Given the description of an element on the screen output the (x, y) to click on. 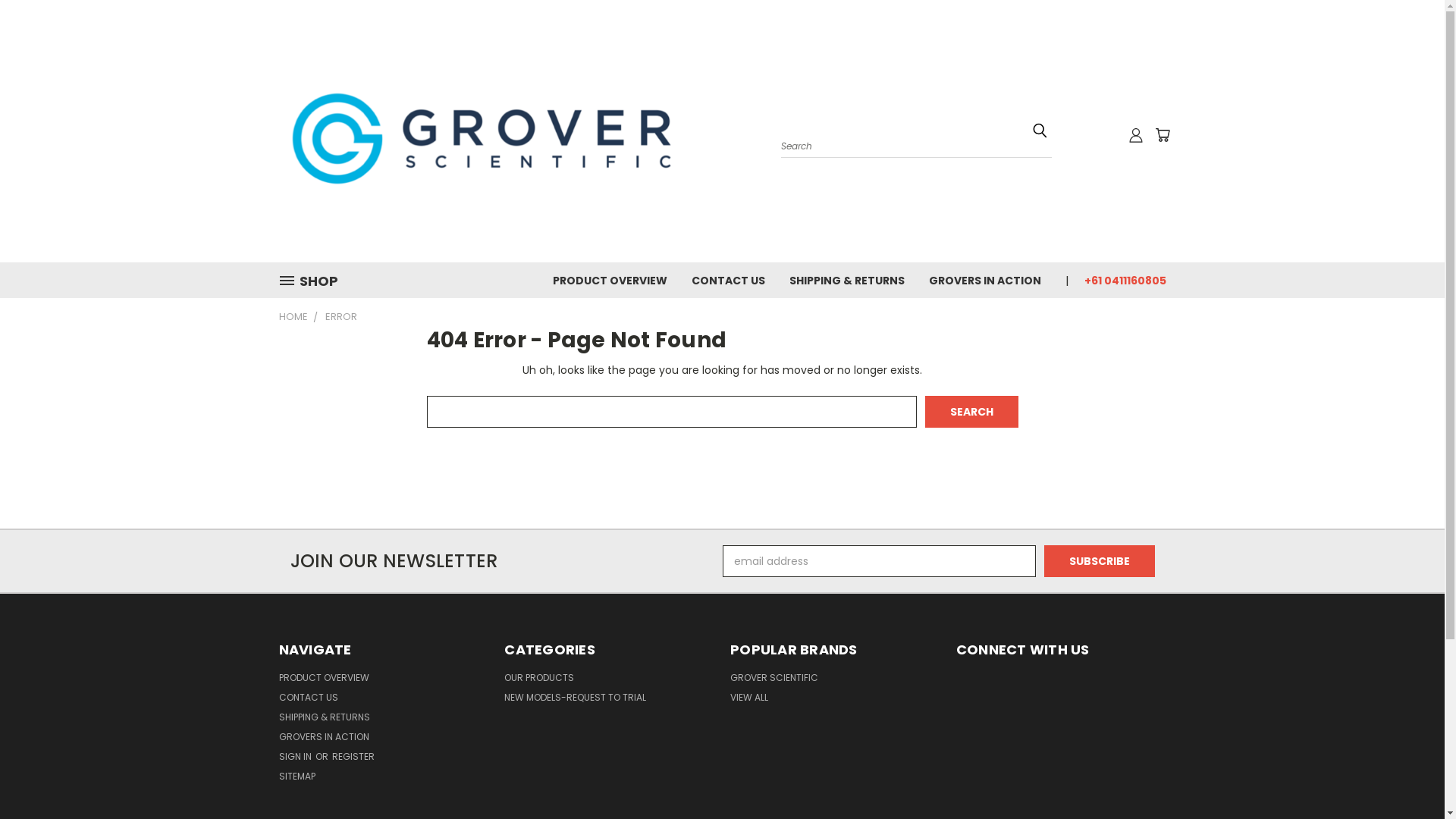
User Toolbox Element type: hover (1135, 134)
OUR PRODUCTS Element type: text (539, 680)
NEW MODELS-REQUEST TO TRIAL Element type: text (575, 699)
PRODUCT OVERVIEW Element type: text (608, 279)
+61 0411160805 Element type: text (1119, 279)
SHOP Element type: text (314, 280)
GROVER SCIENTIFIC Element type: text (774, 680)
GROVERS IN ACTION Element type: text (984, 279)
PRODUCT OVERVIEW Element type: text (324, 680)
SIGN IN Element type: text (296, 758)
HOME Element type: text (293, 316)
CONTACT US Element type: text (308, 699)
SHIPPING & RETURNS Element type: text (846, 279)
SHIPPING & RETURNS Element type: text (324, 719)
Cart Element type: hover (1161, 134)
Search Element type: text (971, 411)
REGISTER Element type: text (353, 758)
Grover Scientific Element type: hover (498, 130)
Subscribe Element type: text (1099, 561)
GROVERS IN ACTION Element type: text (324, 739)
Submit Search Element type: hover (1039, 130)
VIEW ALL Element type: text (749, 699)
SITEMAP Element type: text (297, 778)
CONTACT US Element type: text (728, 279)
